Given the description of an element on the screen output the (x, y) to click on. 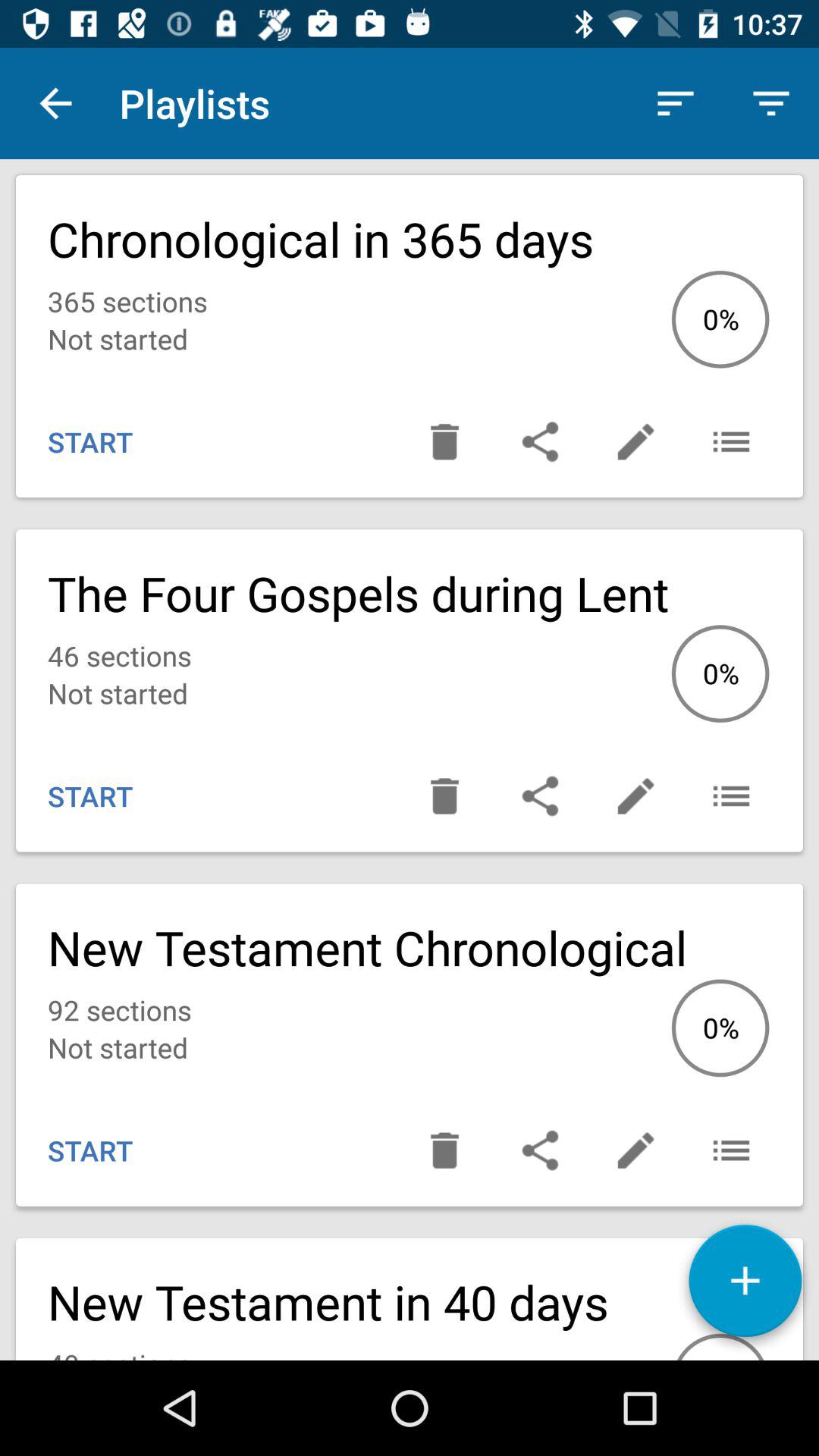
open the icon next to 40 sections item (745, 1286)
